Given the description of an element on the screen output the (x, y) to click on. 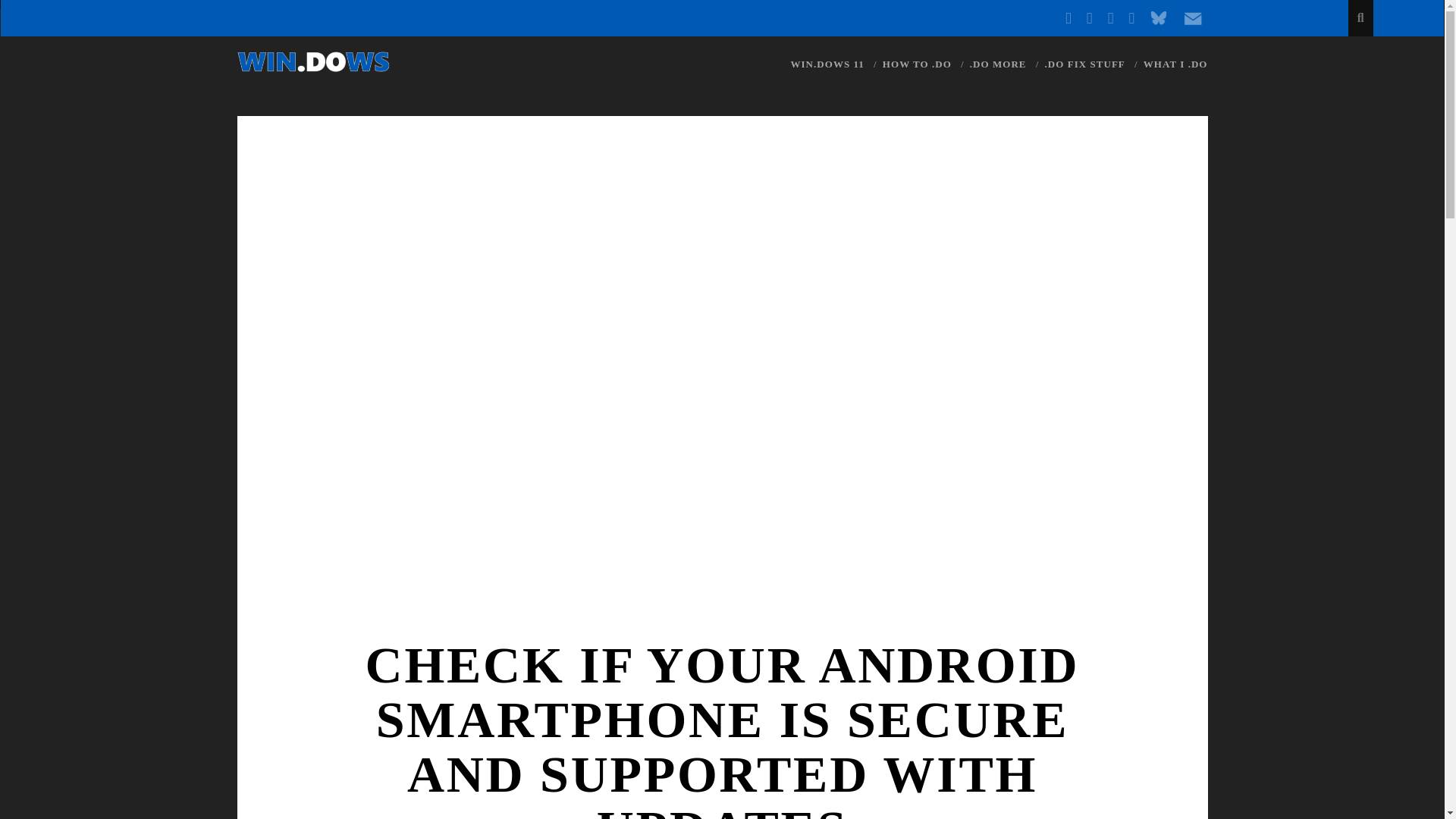
HOW TO .DO (917, 64)
.DO MORE (997, 64)
.DO FIX STUFF (1085, 64)
WIN.DOWS 11 (826, 64)
